Given the description of an element on the screen output the (x, y) to click on. 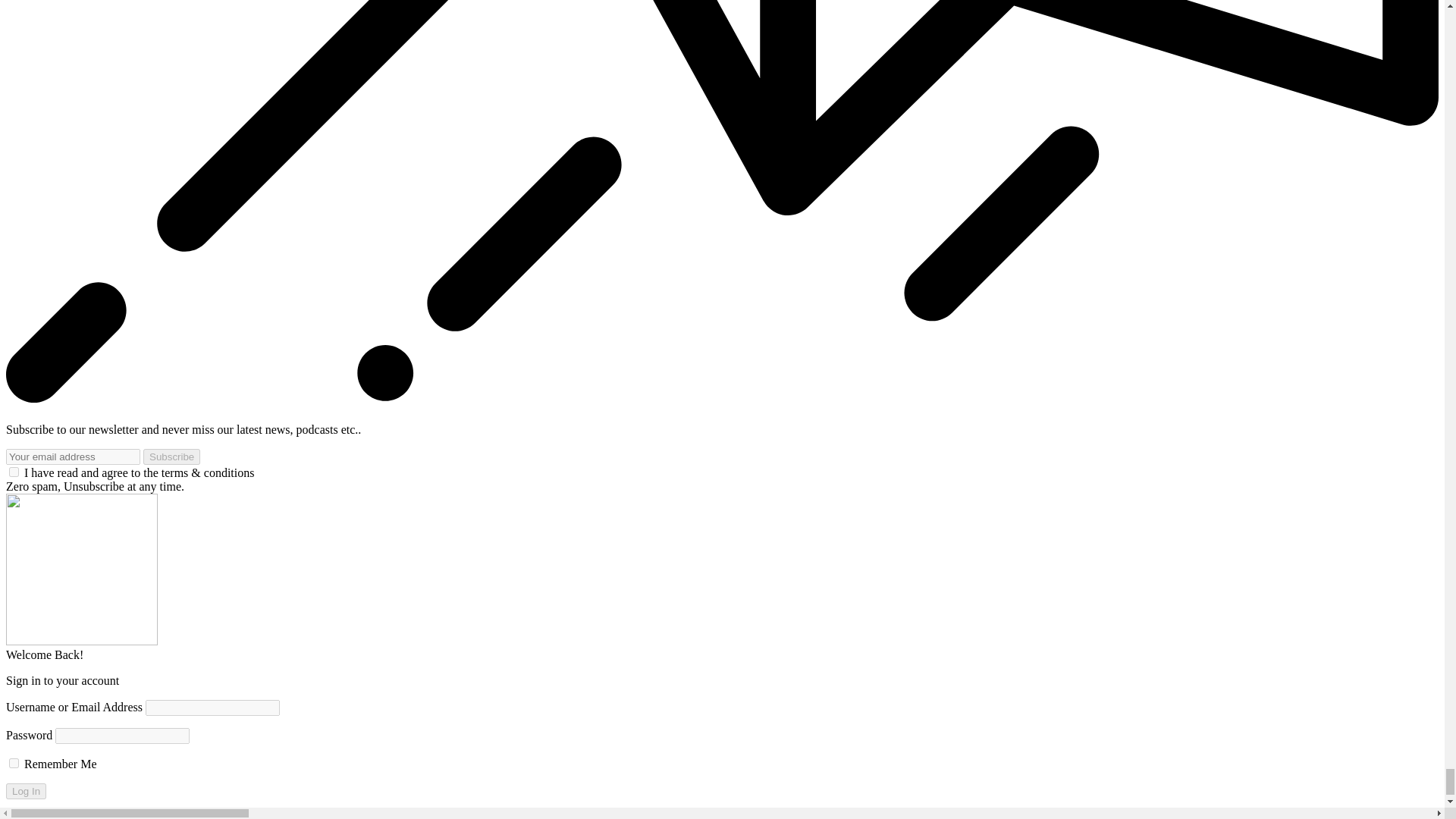
1 (13, 471)
Subscribe (171, 456)
Log In (25, 790)
forever (13, 763)
